Given the description of an element on the screen output the (x, y) to click on. 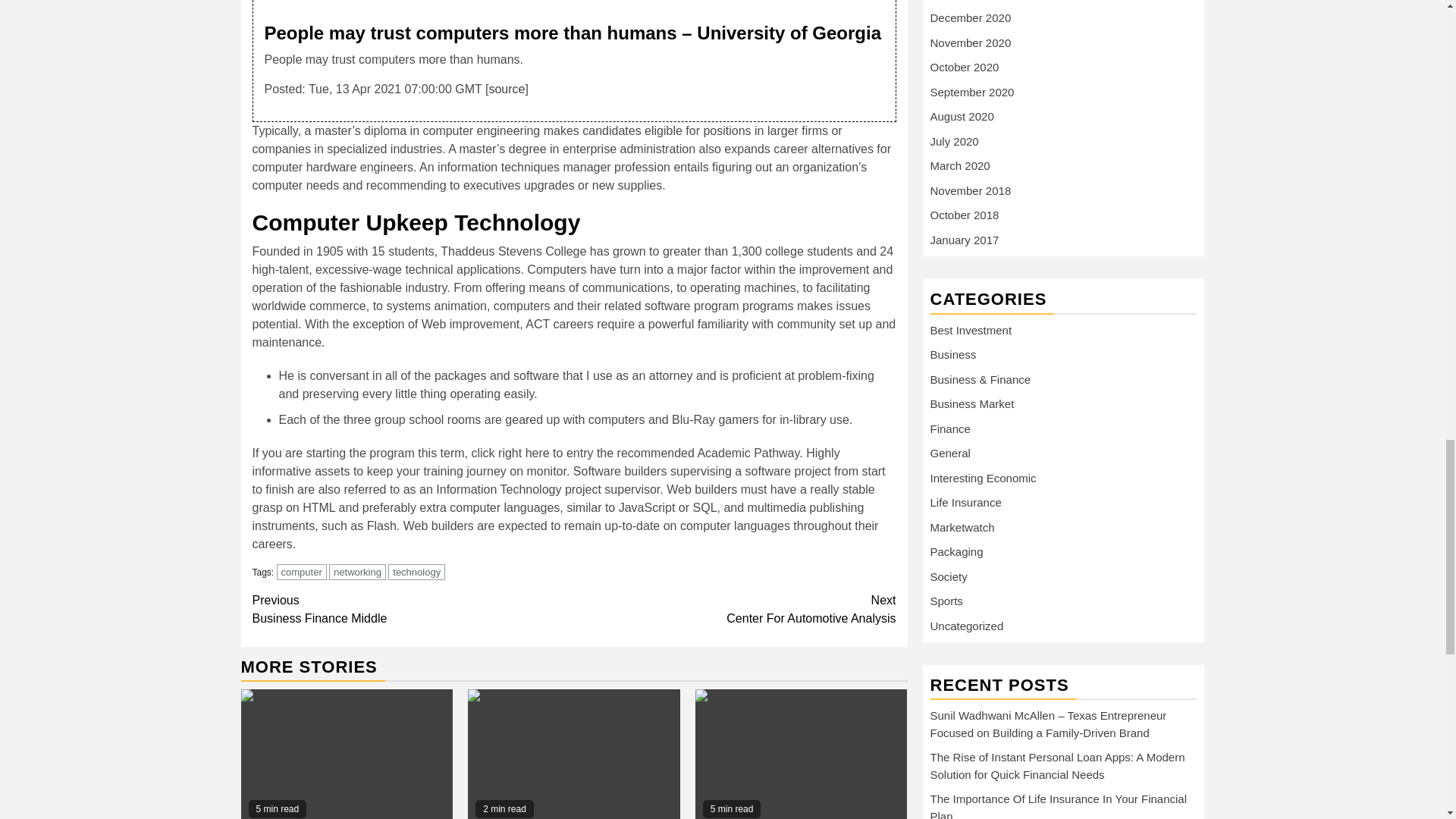
technology (412, 609)
How 25 Side Hustlers Made Their First Entrepreneurial Income (416, 571)
source (573, 754)
networking (505, 88)
computer (357, 571)
